Given the description of an element on the screen output the (x, y) to click on. 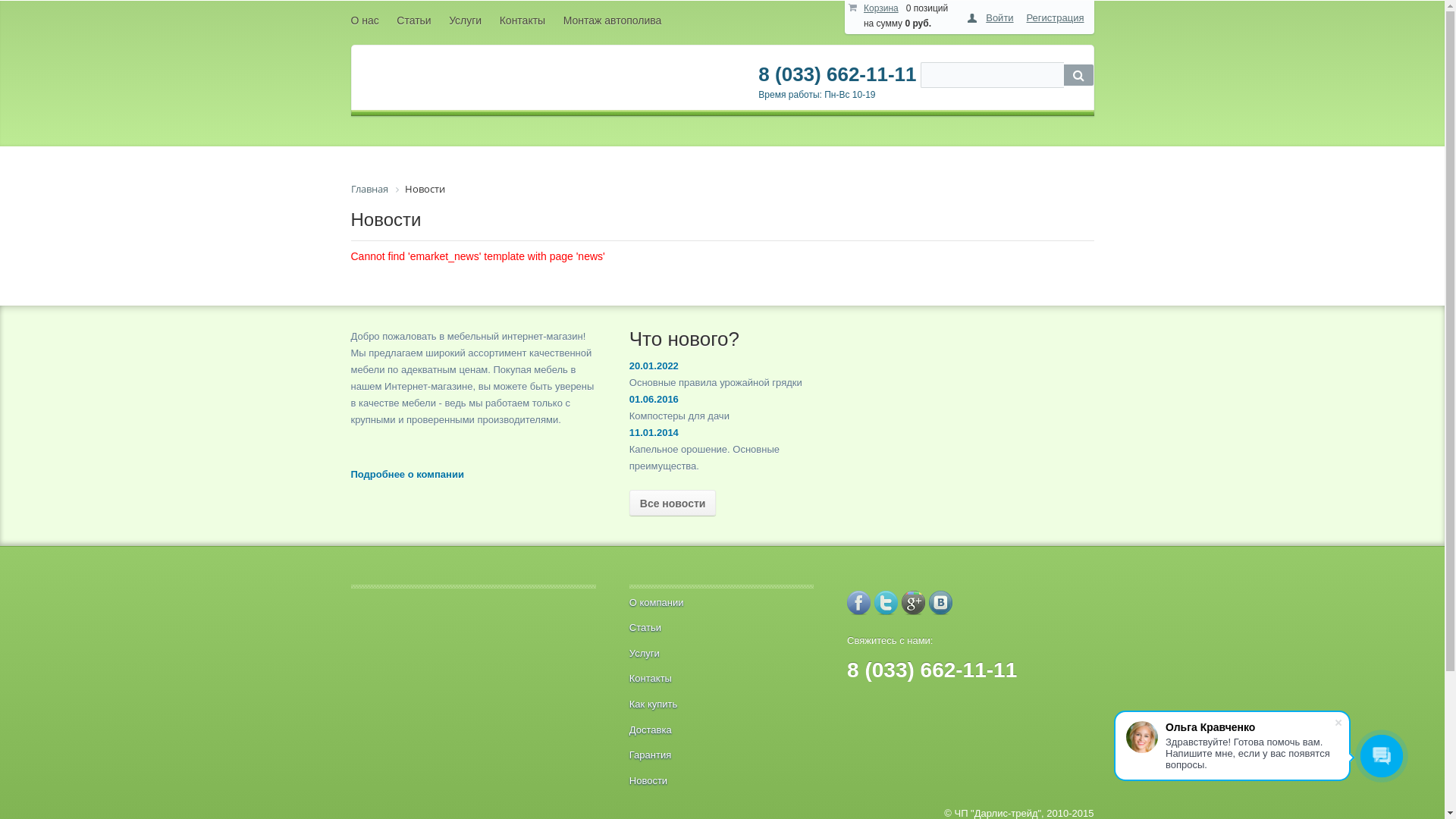
20.01.2022 Element type: text (653, 365)
8 (033) 662-11-11 Element type: text (837, 73)
01.06.2016 Element type: text (653, 398)
11.01.2014 Element type: text (653, 432)
